Given the description of an element on the screen output the (x, y) to click on. 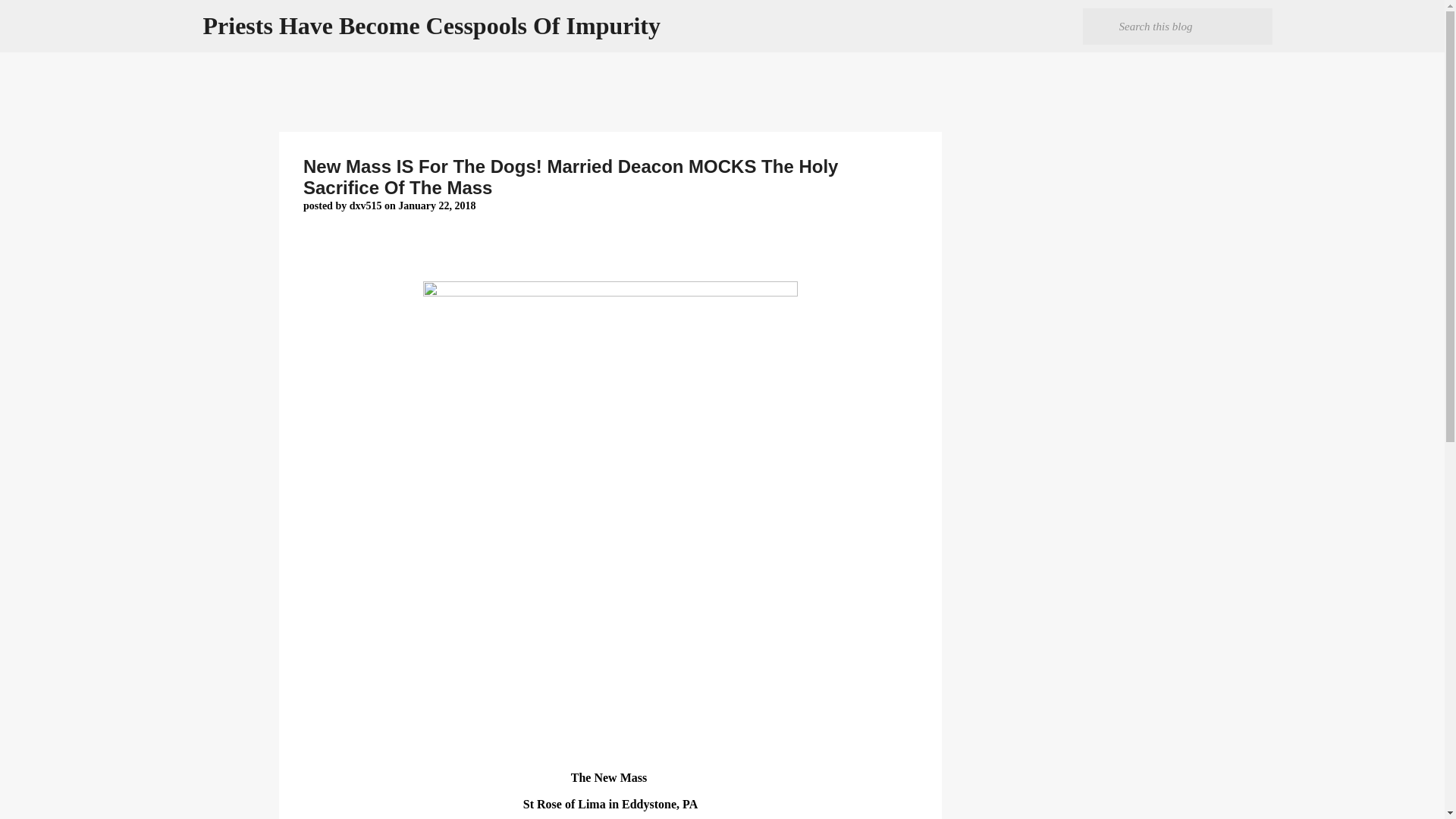
permanent link (436, 205)
dxv515 (366, 205)
January 22, 2018 (436, 205)
author profile (366, 205)
Priests Have Become Cesspools Of Impurity (432, 25)
